Given the description of an element on the screen output the (x, y) to click on. 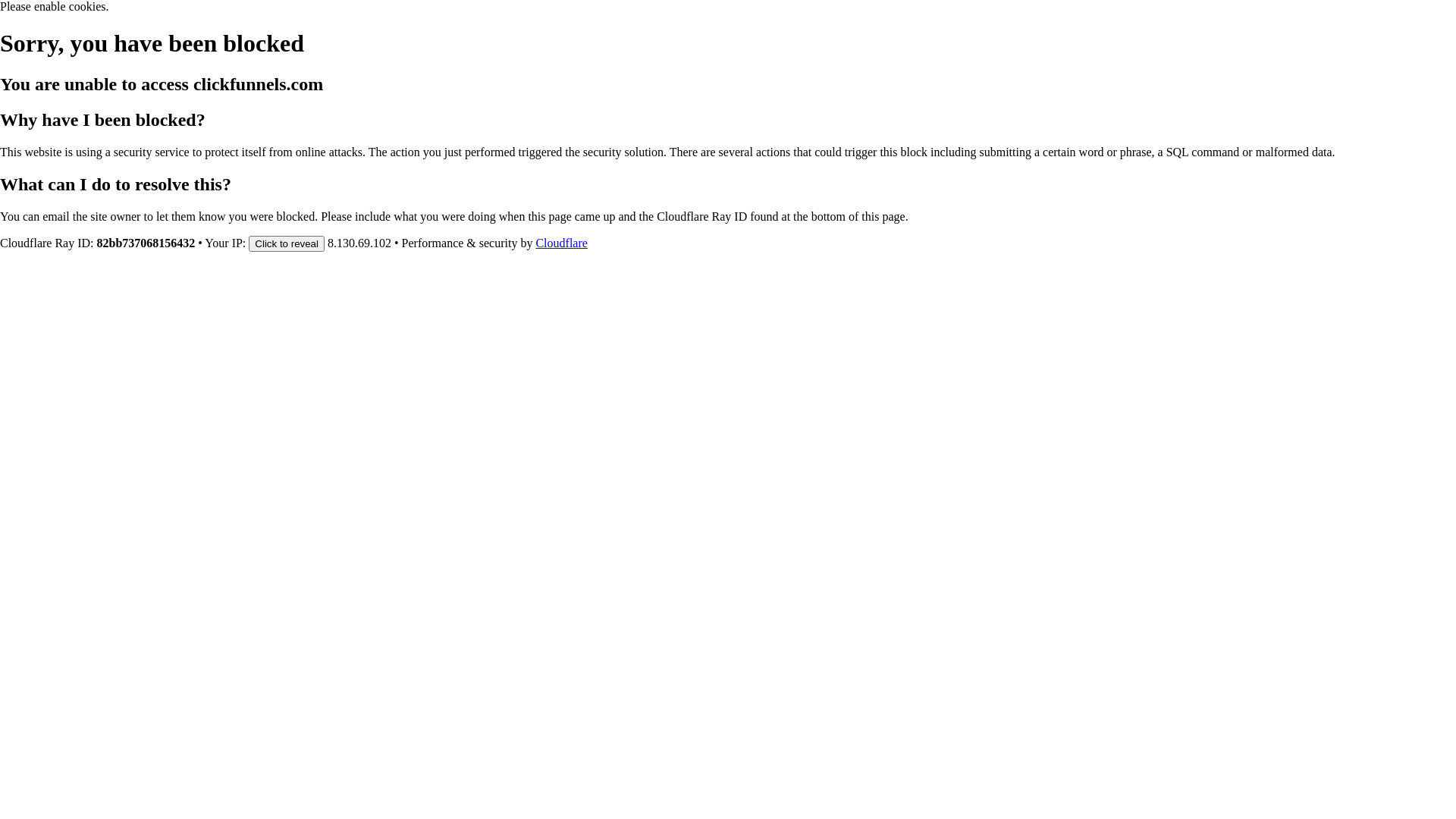
Click to reveal Element type: text (286, 243)
Cloudflare Element type: text (560, 242)
